Given the description of an element on the screen output the (x, y) to click on. 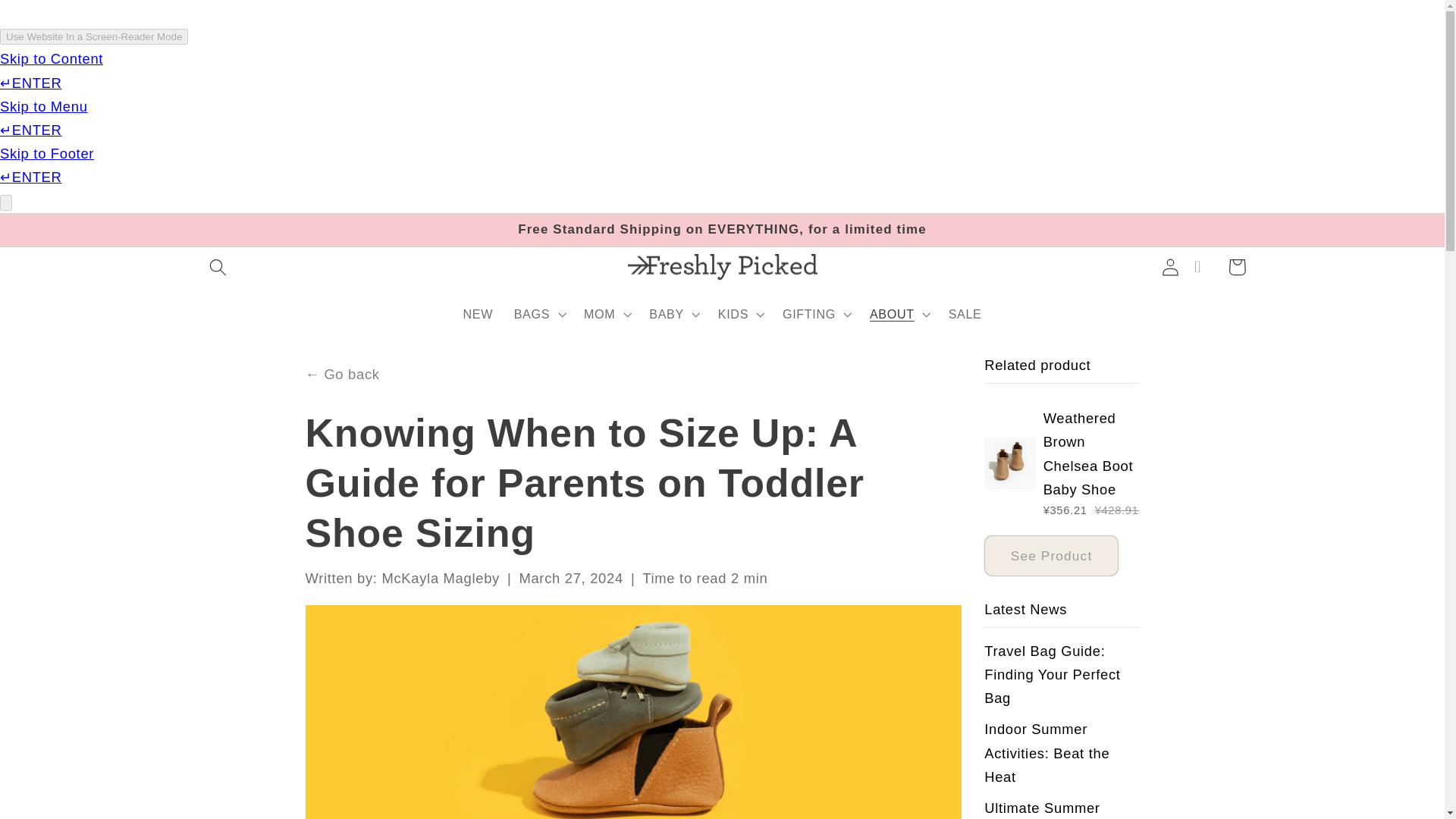
Skip to content (52, 20)
